Given the description of an element on the screen output the (x, y) to click on. 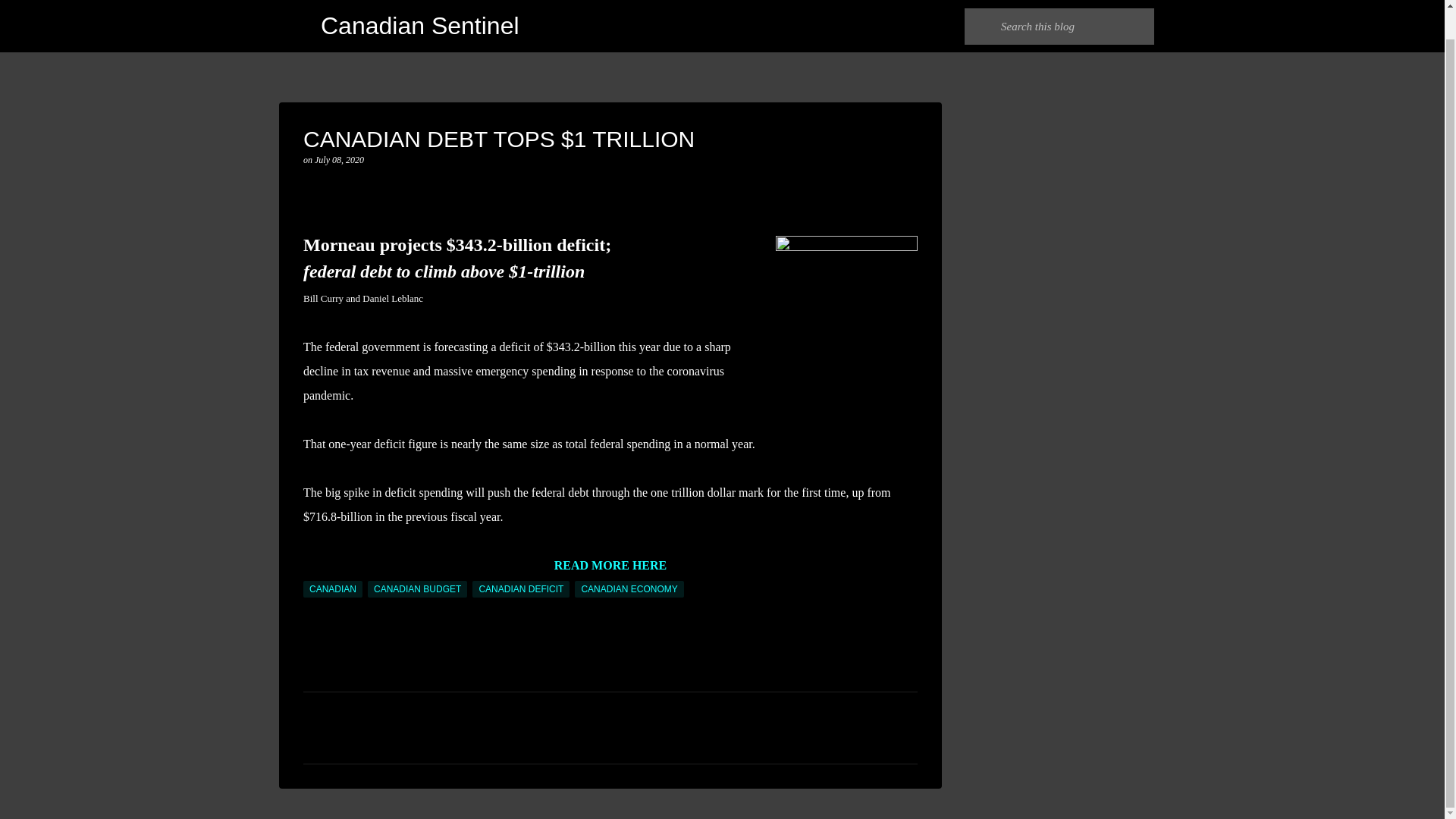
CANADIAN BUDGET (417, 588)
Canadian Sentinel (419, 4)
CANADIAN ECONOMY (628, 588)
CANADIAN DEFICIT (520, 588)
CANADIAN (332, 588)
READ MORE HERE (610, 564)
July 08, 2020 (339, 159)
permanent link (339, 159)
